Given the description of an element on the screen output the (x, y) to click on. 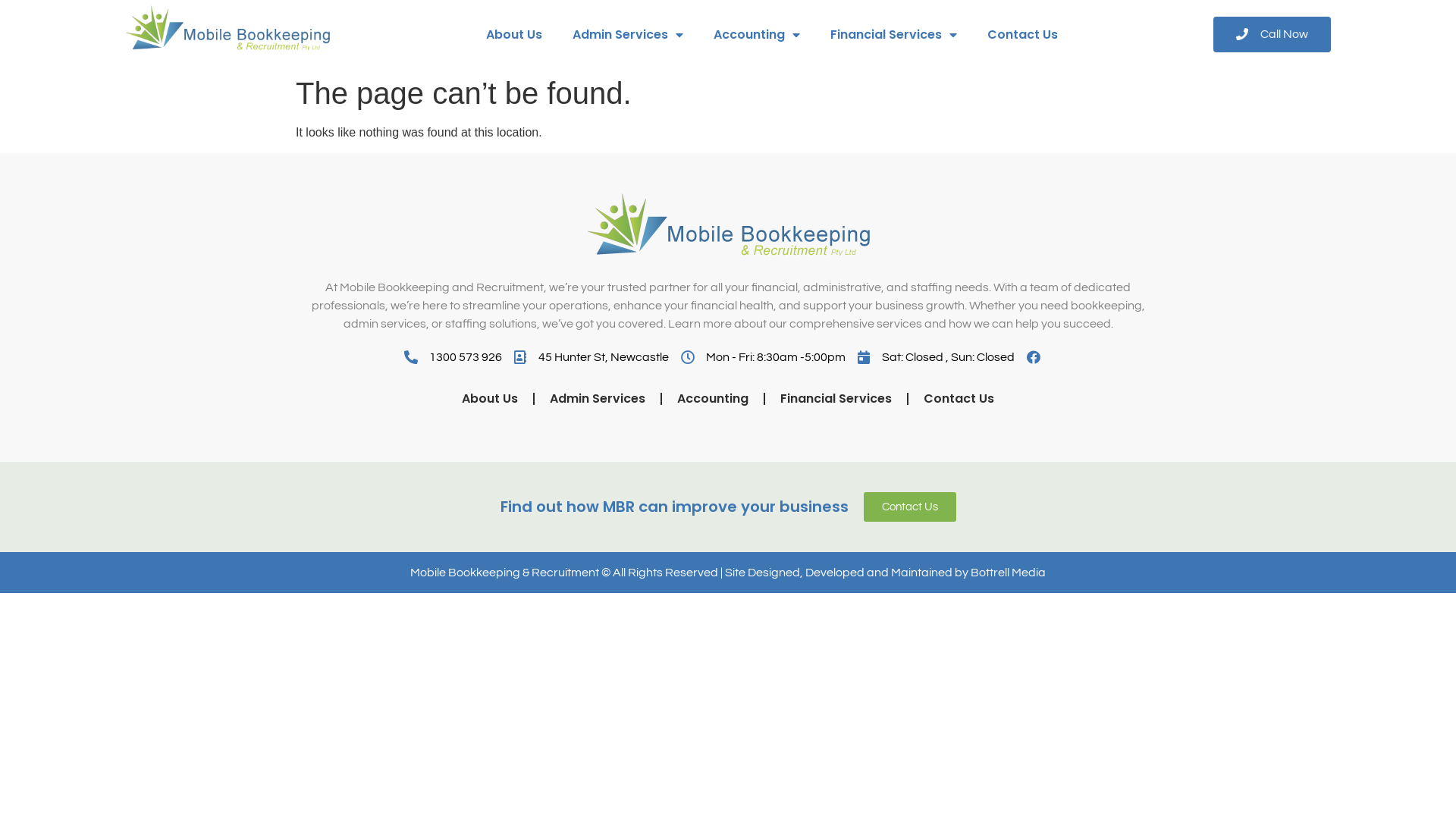
Admin Services Element type: text (626, 34)
About Us Element type: text (513, 34)
Call Now Element type: text (1271, 34)
About Us Element type: text (489, 398)
Financial Services Element type: text (892, 34)
Contact Us Element type: text (1022, 34)
Financial Services Element type: text (835, 398)
1300 573 926 Element type: text (453, 357)
Contact Us Element type: text (908, 506)
Admin Services Element type: text (597, 398)
Accounting Element type: text (755, 34)
Accounting Element type: text (712, 398)
Contact Us Element type: text (958, 398)
